Given the description of an element on the screen output the (x, y) to click on. 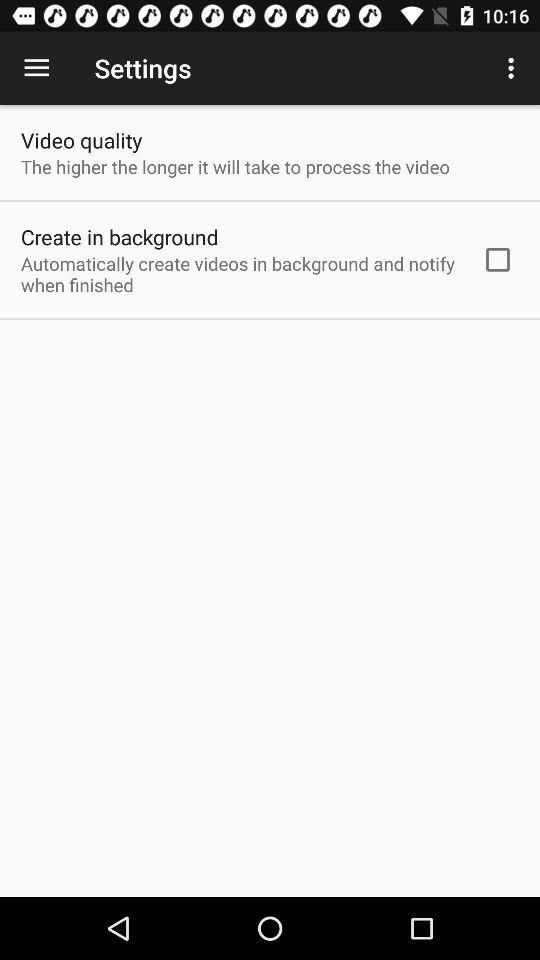
scroll to automatically create videos icon (238, 274)
